Given the description of an element on the screen output the (x, y) to click on. 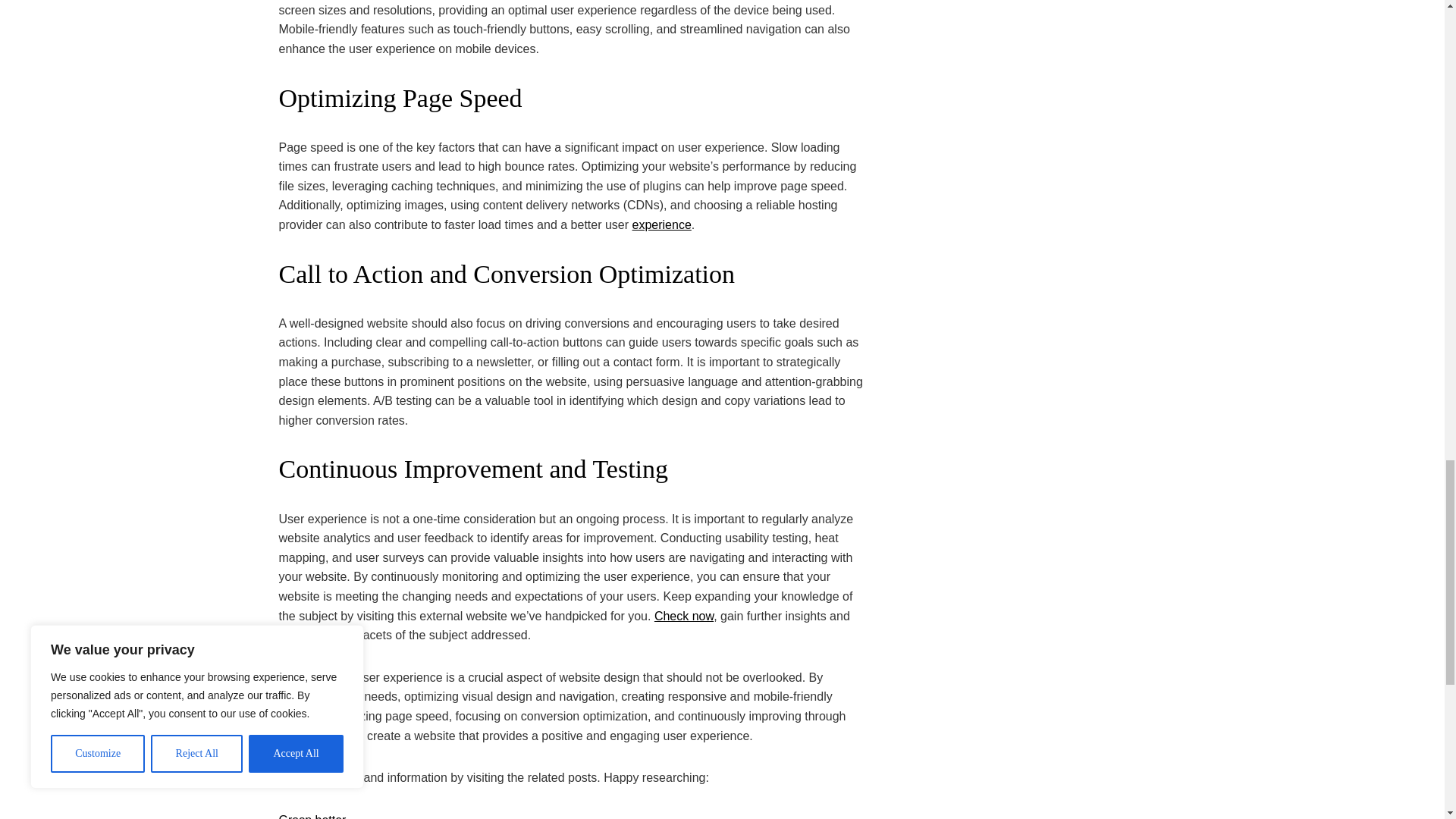
Check now (683, 615)
Grasp better (312, 816)
experience (661, 224)
